Given the description of an element on the screen output the (x, y) to click on. 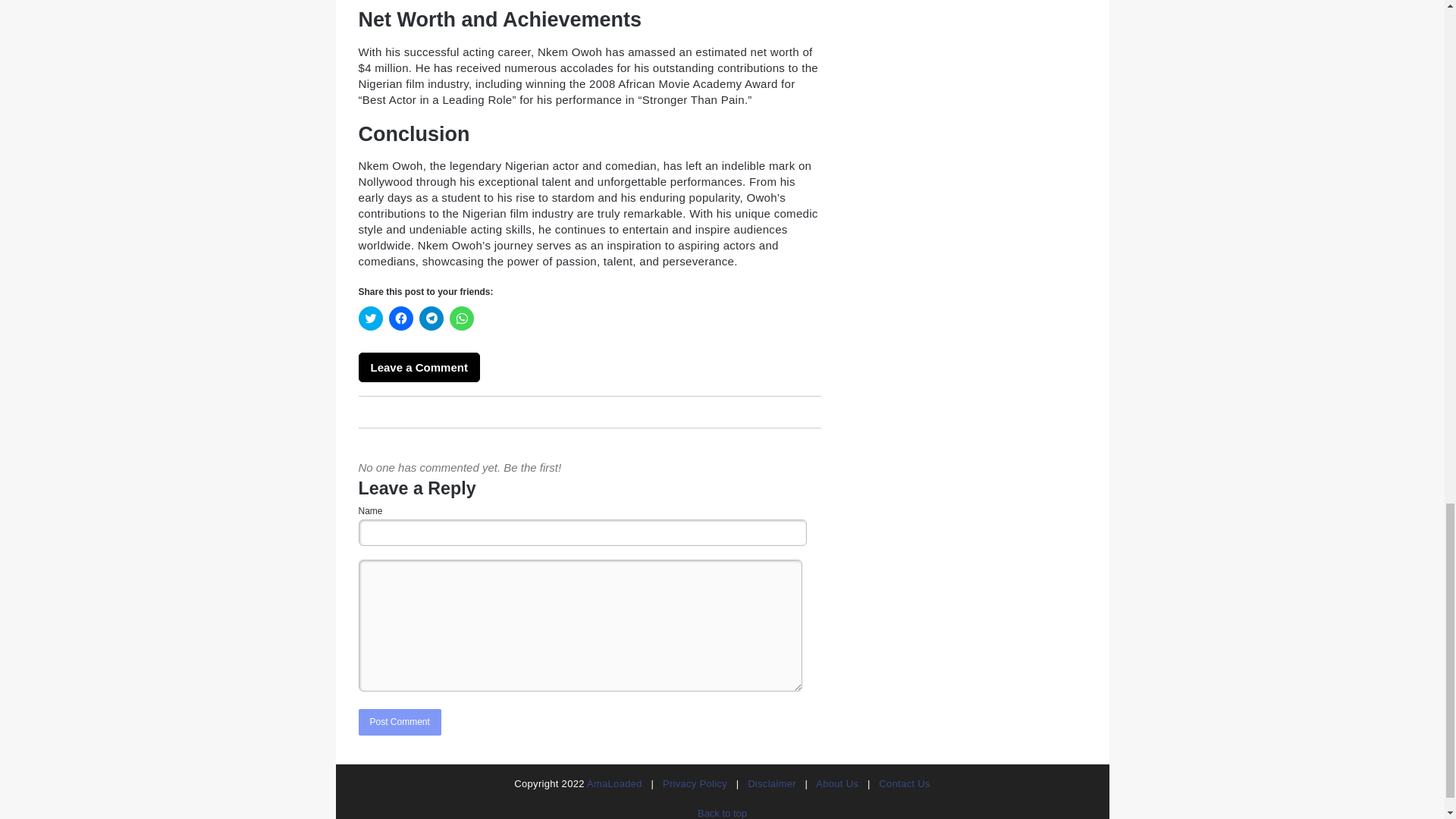
Click to share on Facebook (400, 318)
Leave a Comment (418, 367)
Post Comment (399, 722)
Click to share on Telegram (430, 318)
Click to share on Twitter (369, 318)
Post Comment (399, 722)
Click to share on WhatsApp (460, 318)
